Given the description of an element on the screen output the (x, y) to click on. 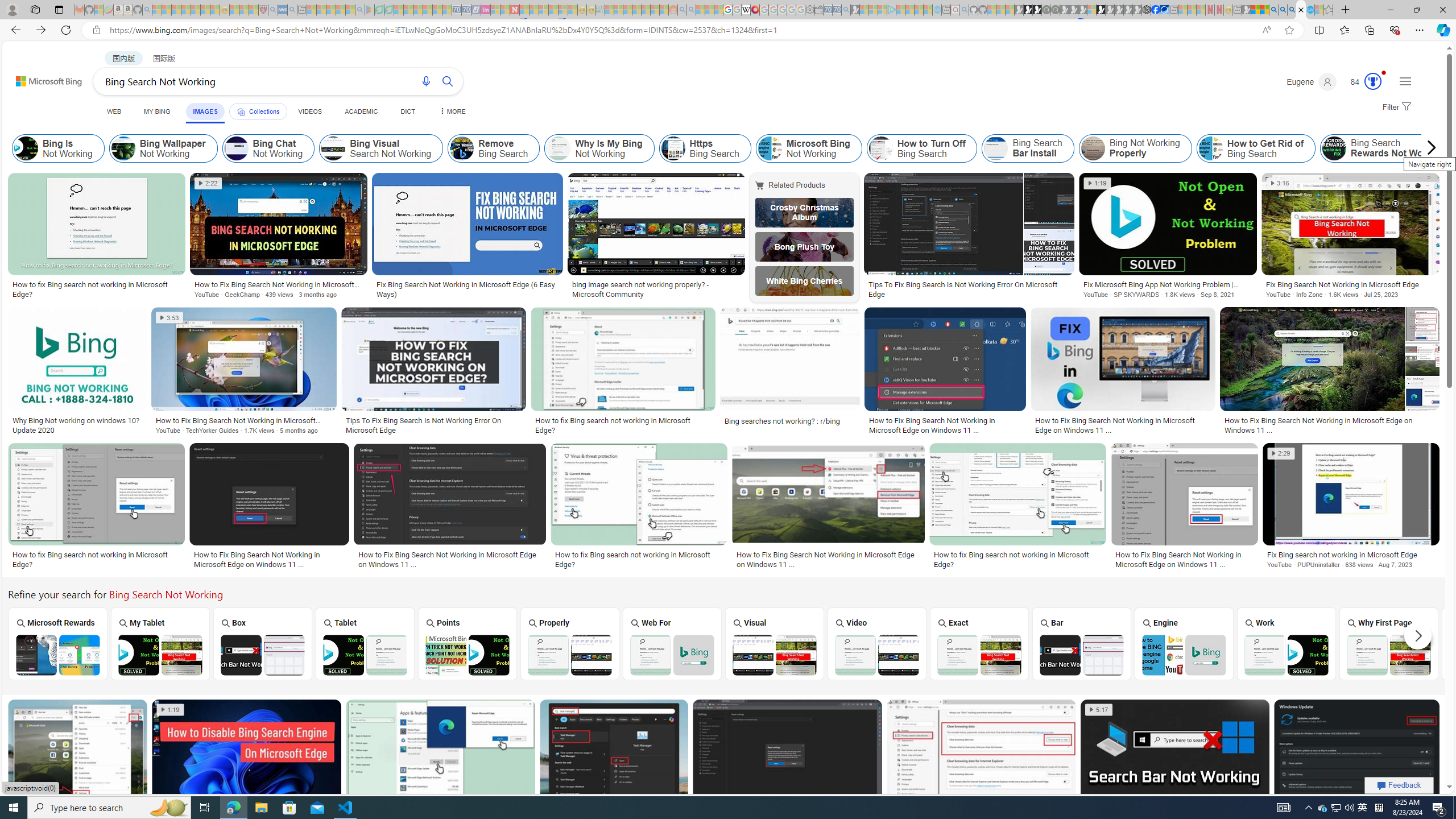
White Bing Cherries (804, 280)
Web For (671, 643)
The Weather Channel - MSN - Sleeping (175, 9)
Properly (569, 643)
Settings and quick links (1404, 80)
Microsoft Rewards Bing Search Not Working (57, 655)
Work (1286, 643)
VIDEOS (310, 111)
Bing Search Bar Not Working Bar (1081, 643)
